Given the description of an element on the screen output the (x, y) to click on. 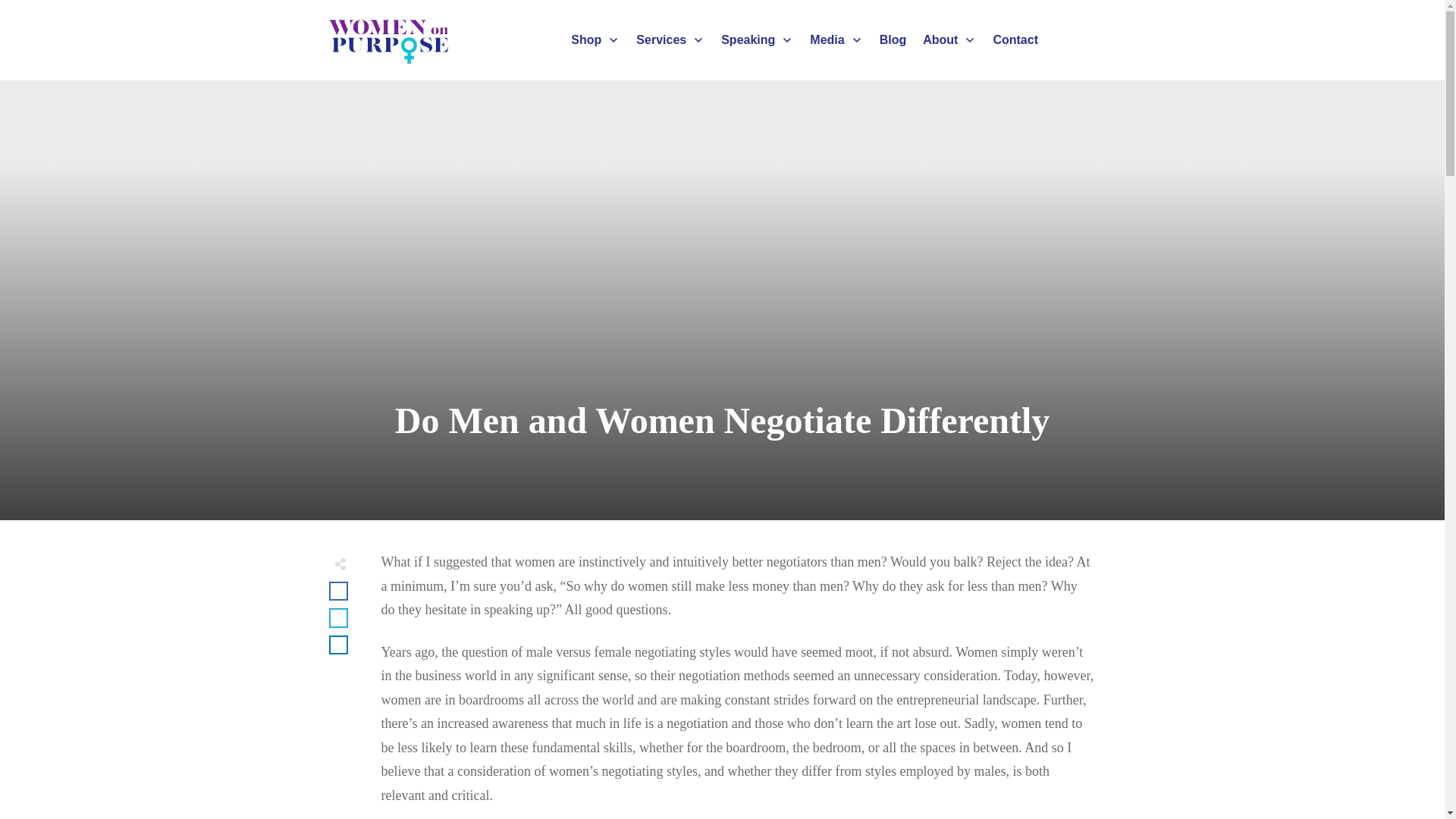
Media (835, 39)
Shop (595, 39)
Contact (1015, 39)
Blog (893, 39)
Speaking (756, 39)
About (949, 39)
Services (670, 39)
